Given the description of an element on the screen output the (x, y) to click on. 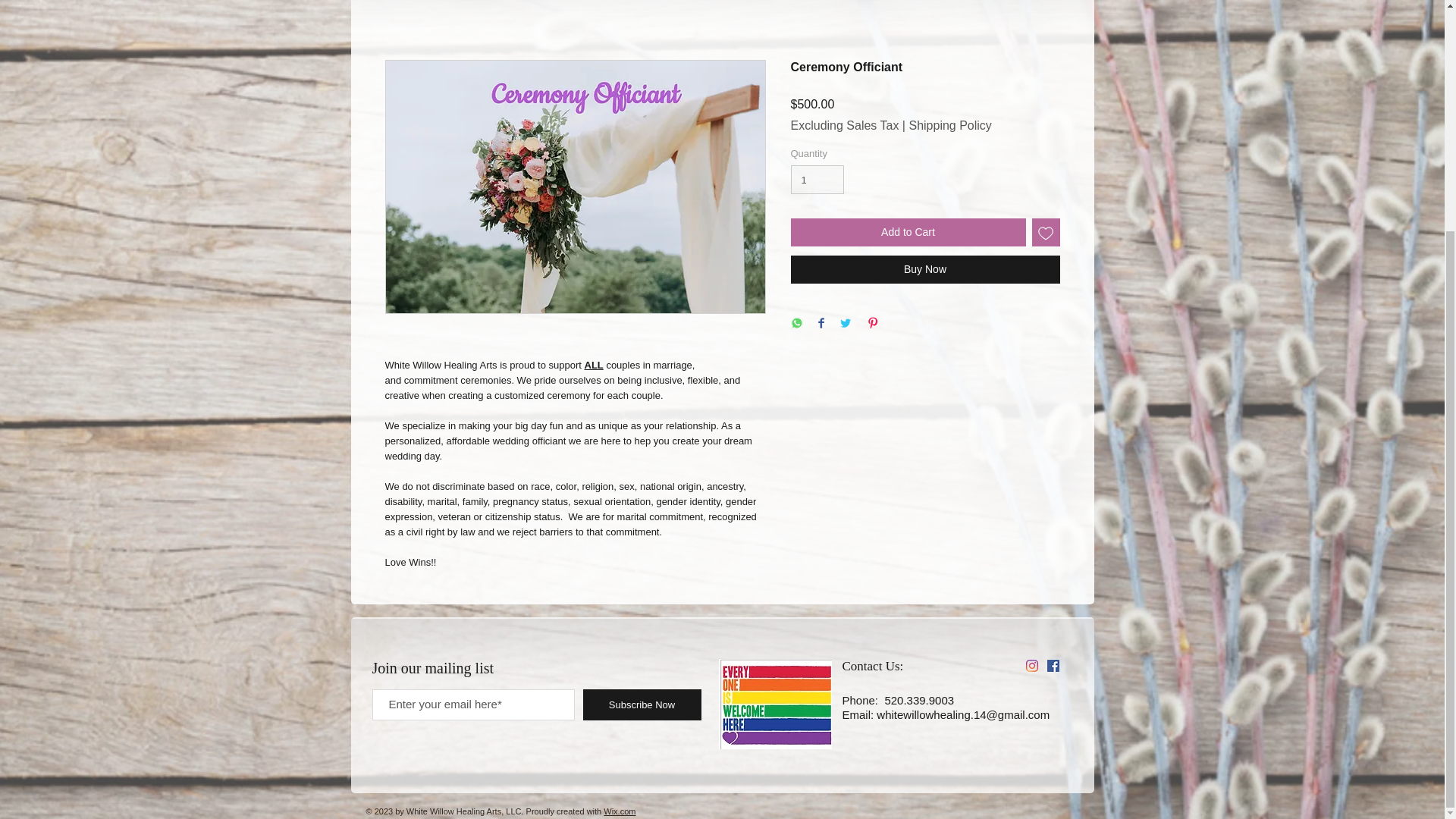
Wix.com (619, 810)
1 (817, 179)
Subscribe Now (641, 704)
Shipping Policy (949, 125)
Buy Now (924, 269)
Add to Cart (907, 232)
